Given the description of an element on the screen output the (x, y) to click on. 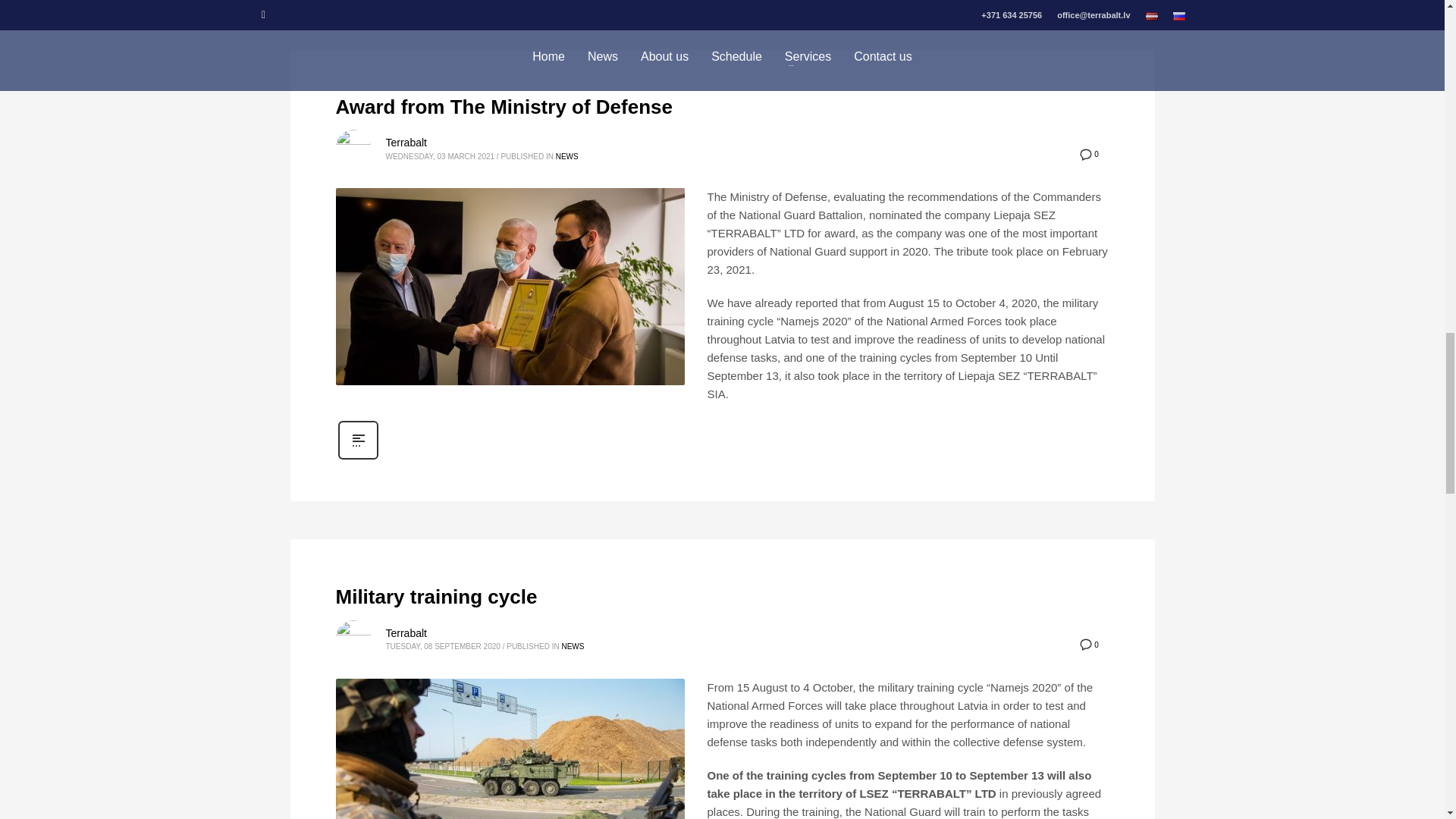
NEWS (567, 156)
Award from The Ministry of Defense (503, 106)
0 (1088, 153)
No Comments (1088, 644)
NEWS (571, 646)
Terrabalt (405, 633)
No Comments (1088, 153)
Posts by Terrabalt (405, 142)
Read more (357, 458)
Military training cycle (435, 596)
Terrabalt (405, 142)
0 (1088, 644)
